Given the description of an element on the screen output the (x, y) to click on. 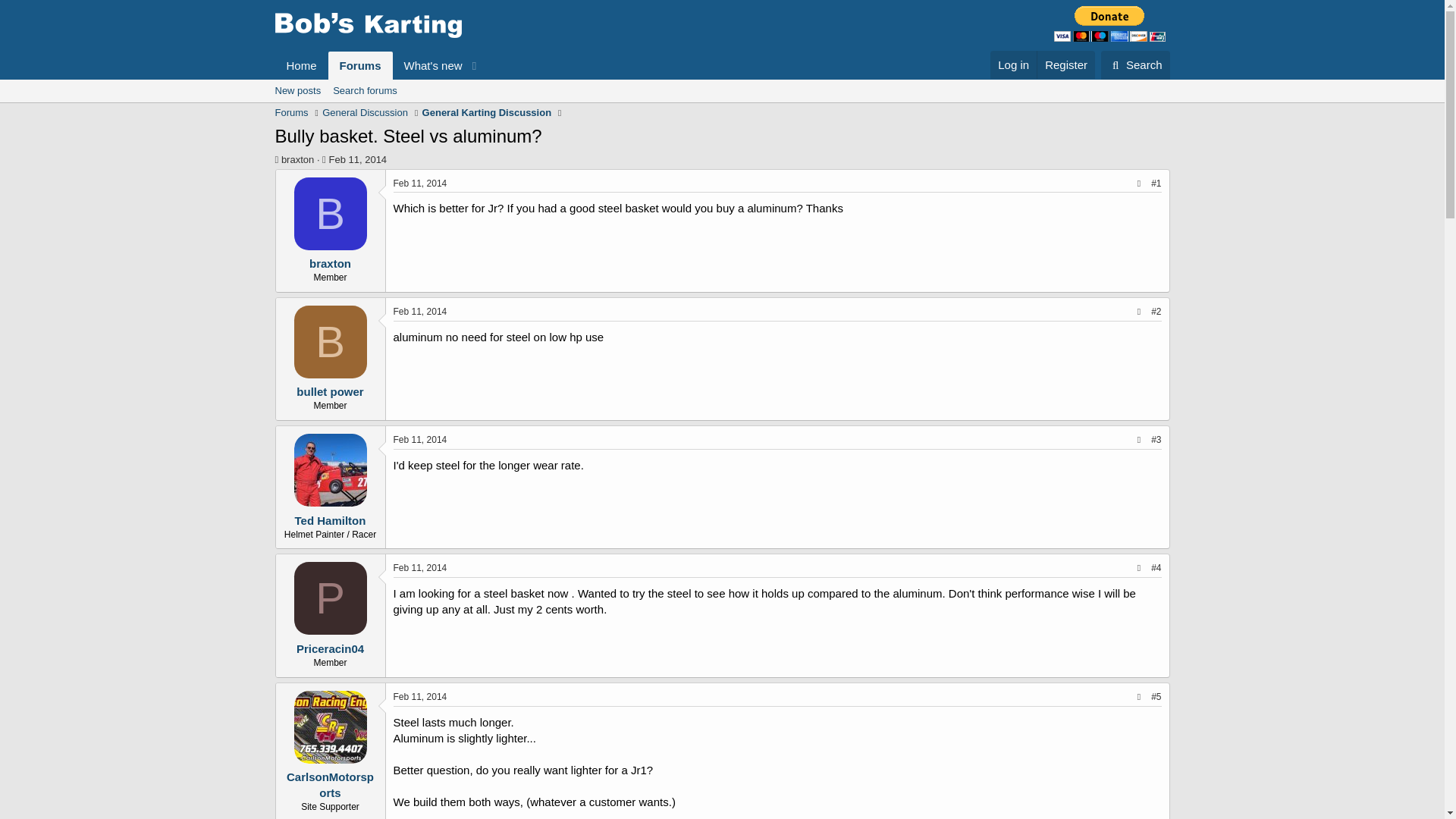
General Karting Discussion (379, 65)
Search (486, 112)
braxton (1135, 64)
What's new (297, 159)
General Discussion (428, 65)
Log in (364, 112)
Feb 11, 2014 at 4:34 PM (1013, 64)
B (419, 696)
Forums (330, 341)
